Given the description of an element on the screen output the (x, y) to click on. 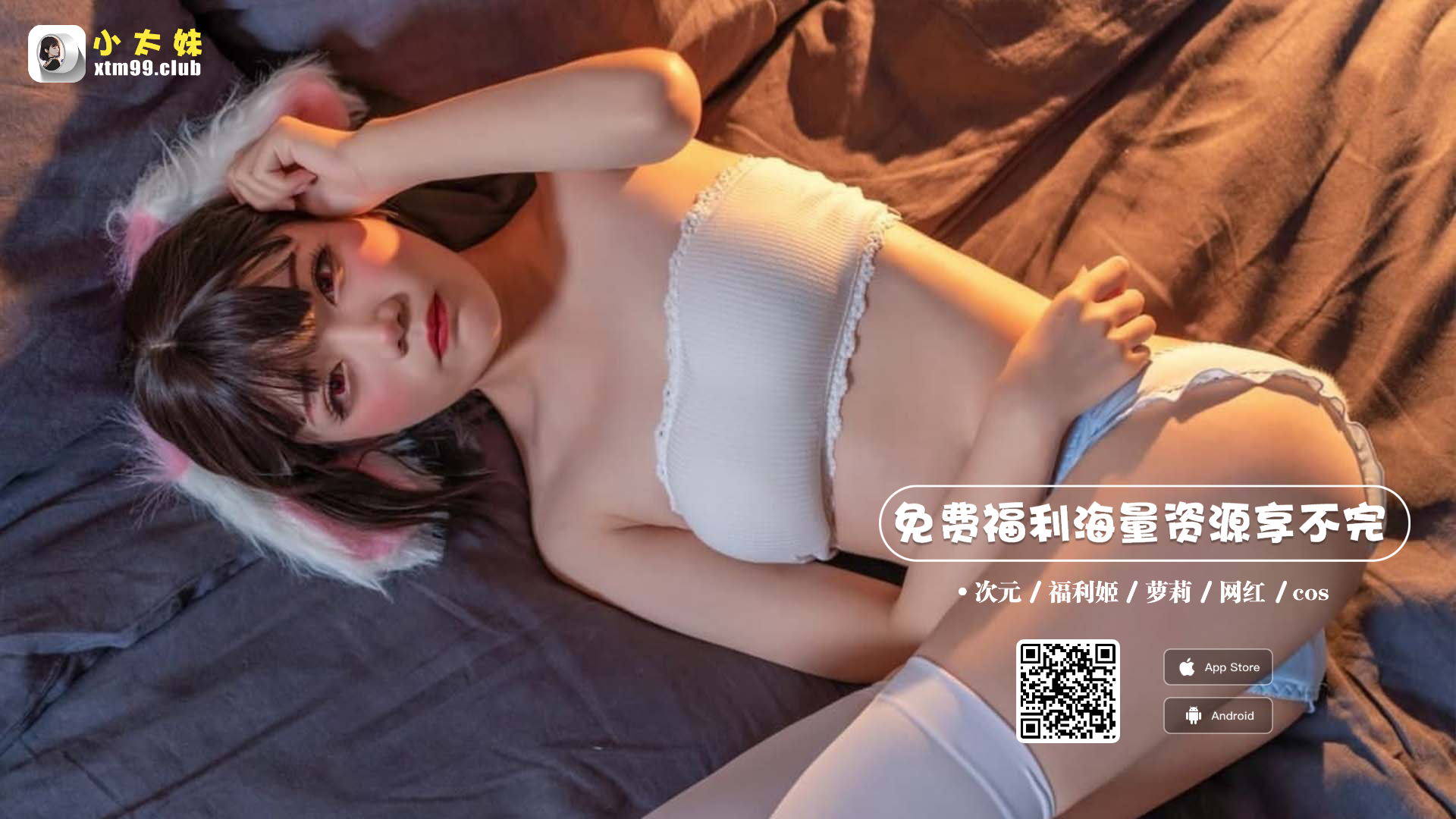
https://ojjo1ndj.top/?channel_code=OSM03S40 Element type: hover (1090, 691)
